Given the description of an element on the screen output the (x, y) to click on. 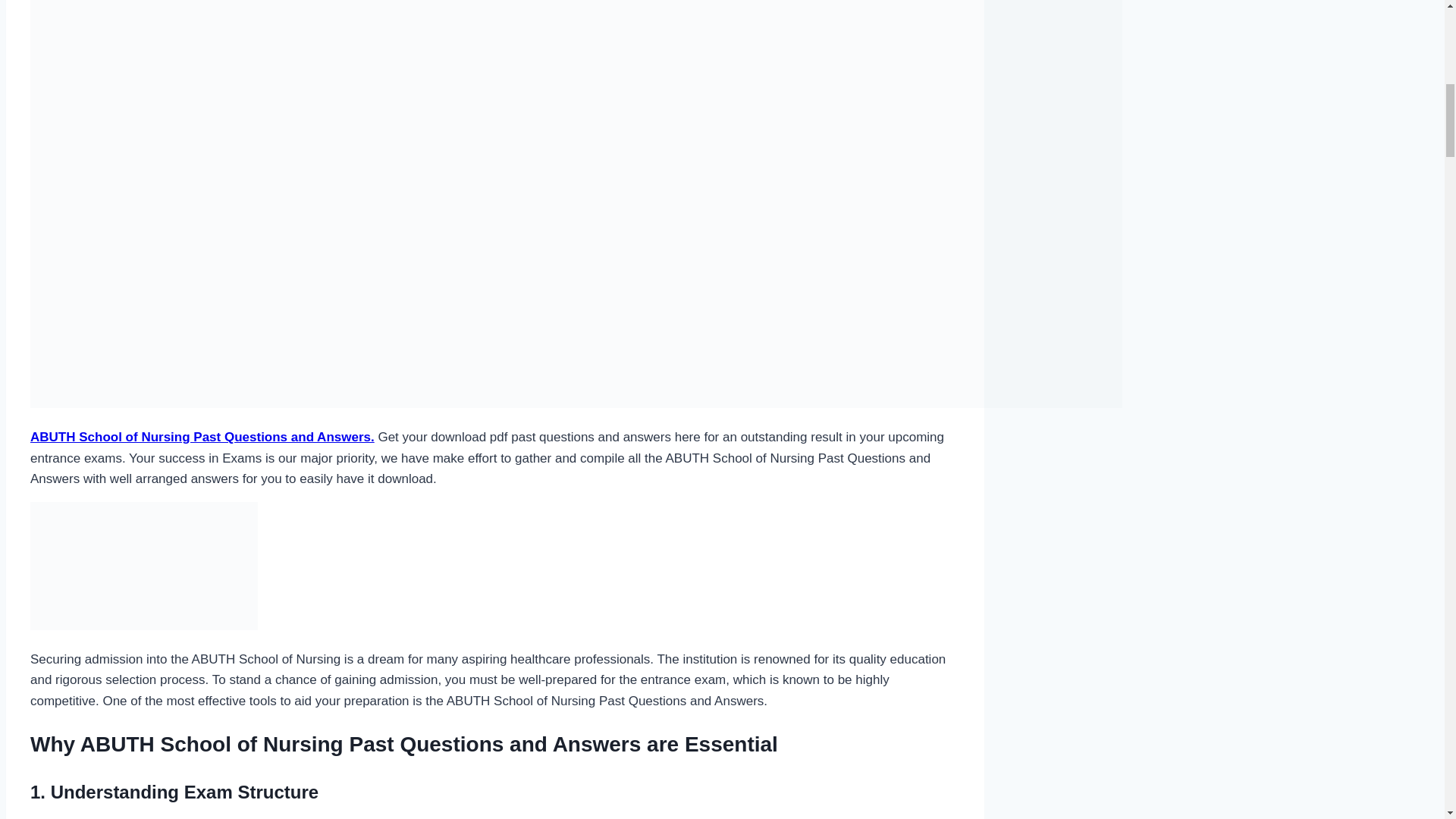
ABUTH School of Nursing Past Questions and Answers 2 (143, 565)
ABUTH School of Nursing Past Questions and Answers. (202, 436)
